Given the description of an element on the screen output the (x, y) to click on. 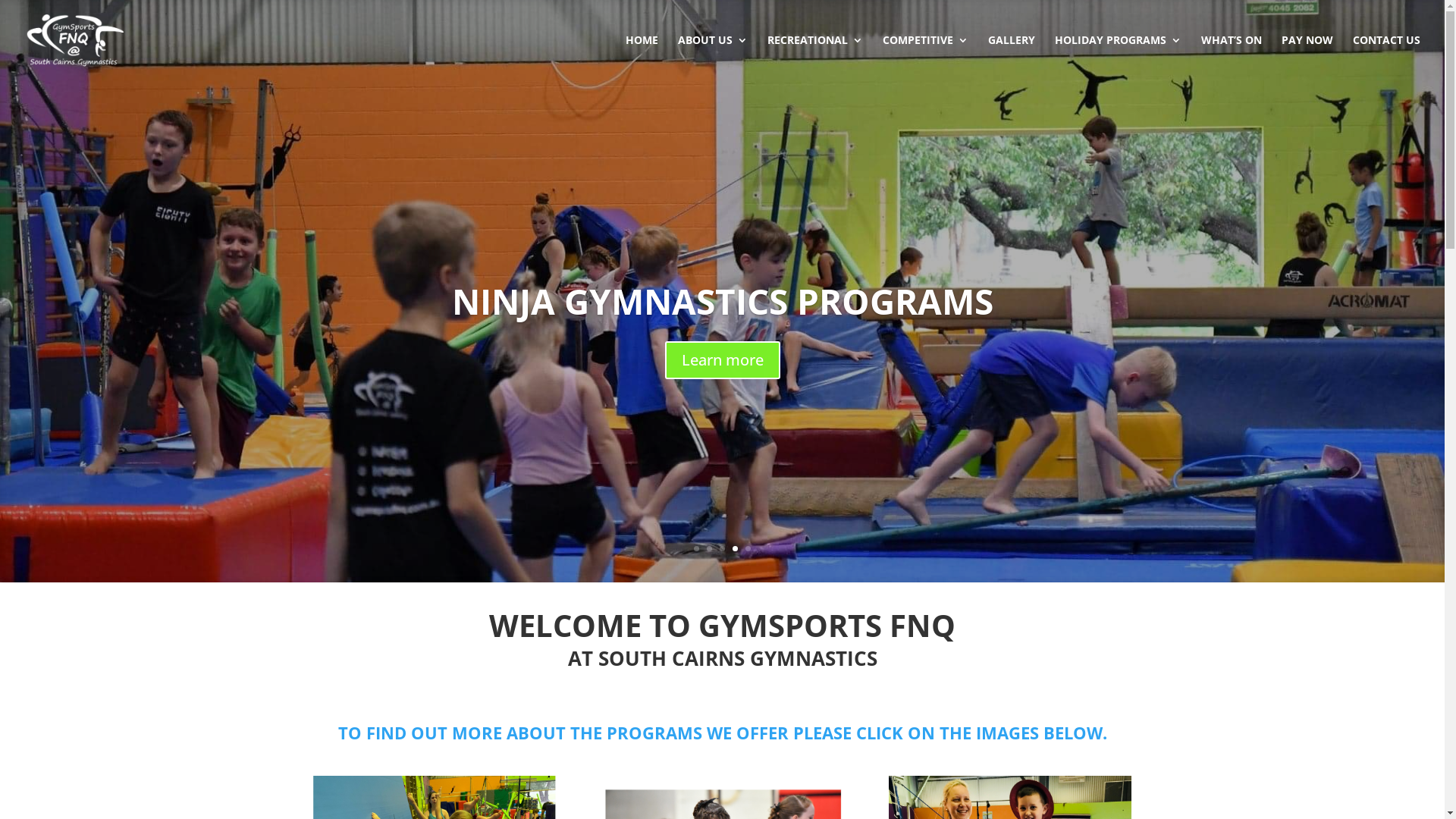
ABOUT US Element type: text (712, 57)
3 Element type: text (721, 548)
Learn more Element type: text (721, 360)
RECREATIONAL Element type: text (814, 57)
2 Element type: text (709, 548)
HOME Element type: text (641, 57)
PAY NOW Element type: text (1307, 57)
NINJA GYMNASTICS PROGRAMS Element type: text (722, 300)
GALLERY Element type: text (1011, 57)
5 Element type: text (747, 548)
1 Element type: text (696, 548)
HOLIDAY PROGRAMS Element type: text (1117, 57)
4 Element type: text (734, 548)
CONTACT US Element type: text (1386, 57)
COMPETITIVE Element type: text (925, 57)
